Given the description of an element on the screen output the (x, y) to click on. 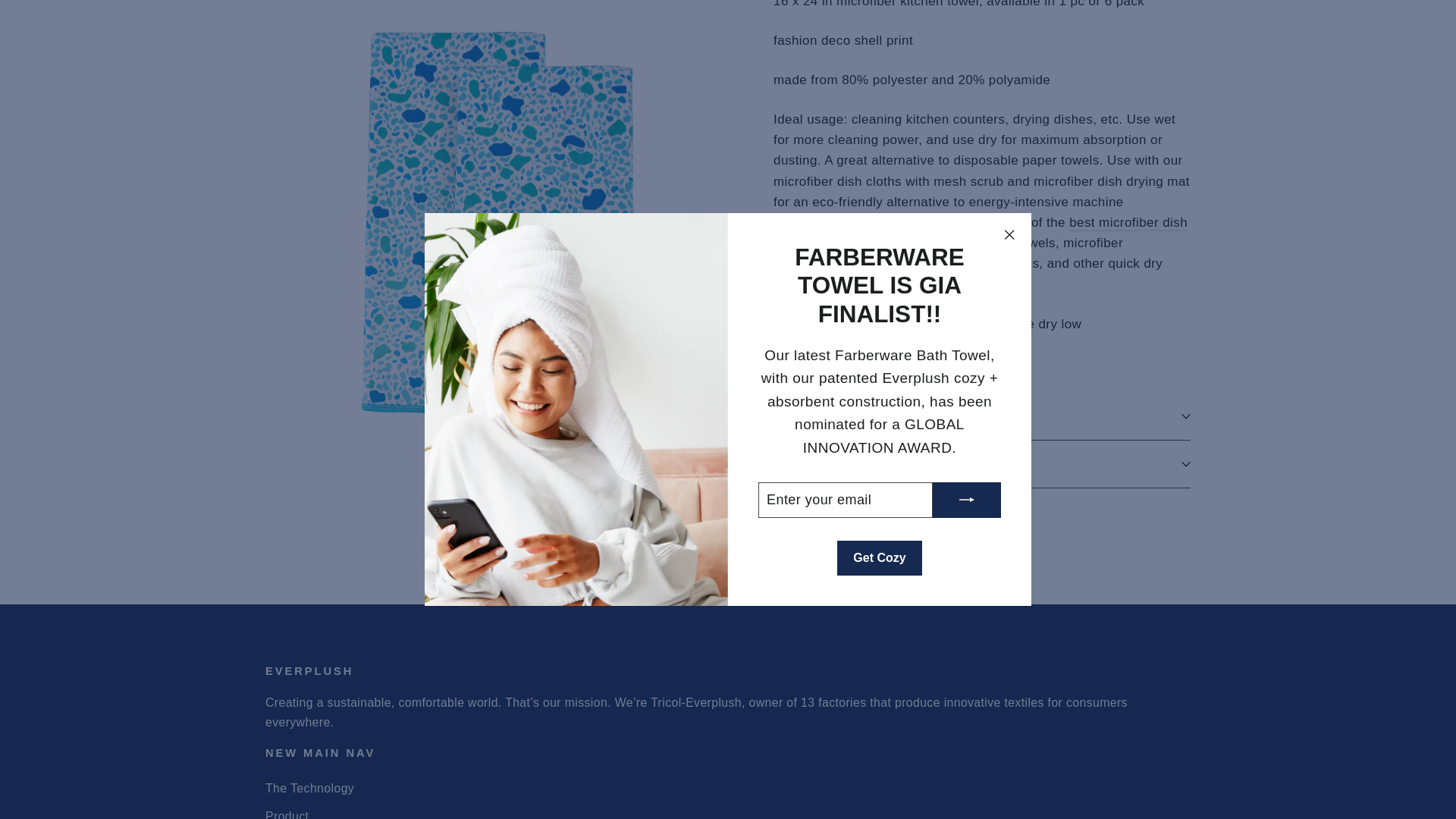
Tweet on Twitter (884, 529)
twitter (858, 530)
